Given the description of an element on the screen output the (x, y) to click on. 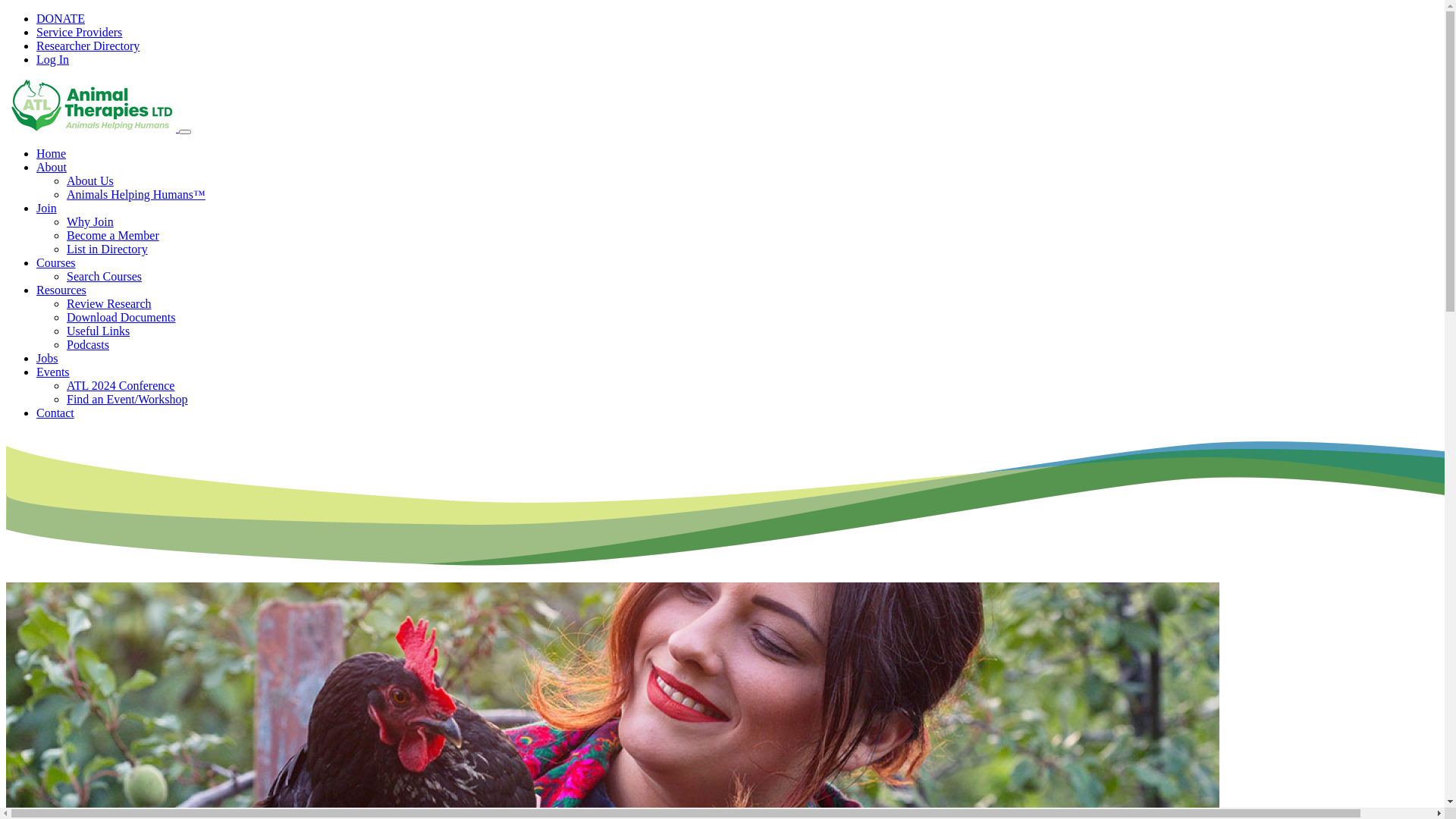
Researcher Directory Element type: text (87, 45)
Podcasts Element type: text (87, 344)
Resources Element type: text (61, 289)
Log In Element type: text (52, 59)
About Element type: text (51, 166)
Useful Links Element type: text (97, 330)
Review Research Element type: text (108, 303)
Find an Event/Workshop Element type: text (127, 398)
Events Element type: text (52, 371)
ATL 2024 Conference Element type: text (120, 385)
Contact Element type: text (55, 412)
Home Element type: text (50, 153)
Why Join Element type: text (89, 221)
Download Documents Element type: text (120, 316)
List in Directory Element type: text (106, 248)
Service Providers Element type: text (79, 31)
Courses Element type: text (55, 262)
DONATE Element type: text (60, 18)
About Us Element type: text (89, 180)
Jobs Element type: text (46, 357)
Join Element type: text (46, 207)
Search Courses Element type: text (103, 275)
Become a Member Element type: text (112, 235)
